Given the description of an element on the screen output the (x, y) to click on. 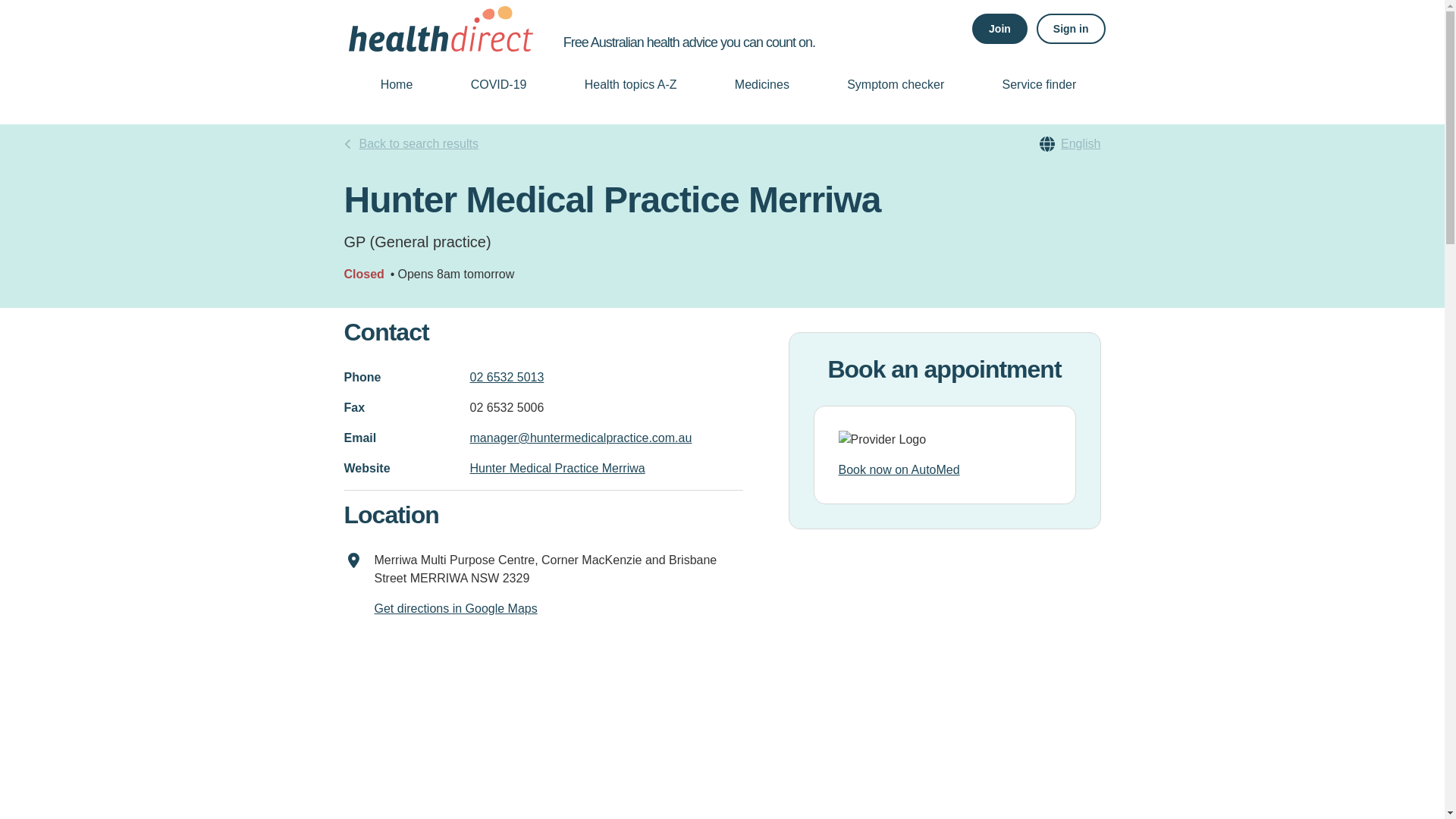
Get directions in Google Maps (455, 608)
Service finder (1038, 84)
Join (999, 28)
Health topics A-Z (631, 84)
Sign in (1070, 28)
Hunter Medical Practice Merriwa (557, 468)
Back to search results (411, 143)
Medicines (762, 84)
Book now on AutoMed (944, 470)
Symptom checker (895, 84)
